Given the description of an element on the screen output the (x, y) to click on. 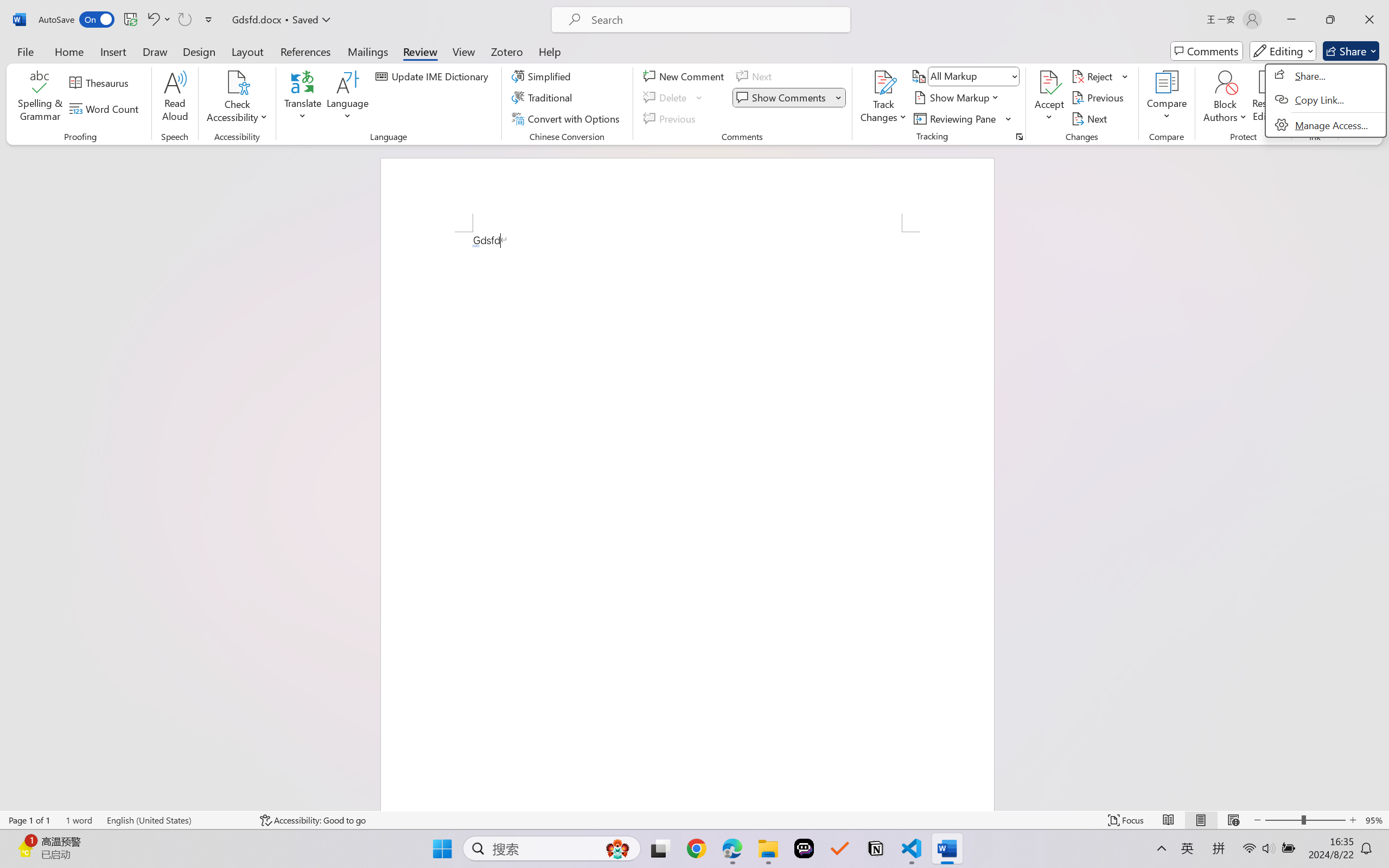
Track Changes (883, 97)
Zoom 95% (1374, 819)
Previous (1099, 97)
Traditional (543, 97)
Next (1090, 118)
